Given the description of an element on the screen output the (x, y) to click on. 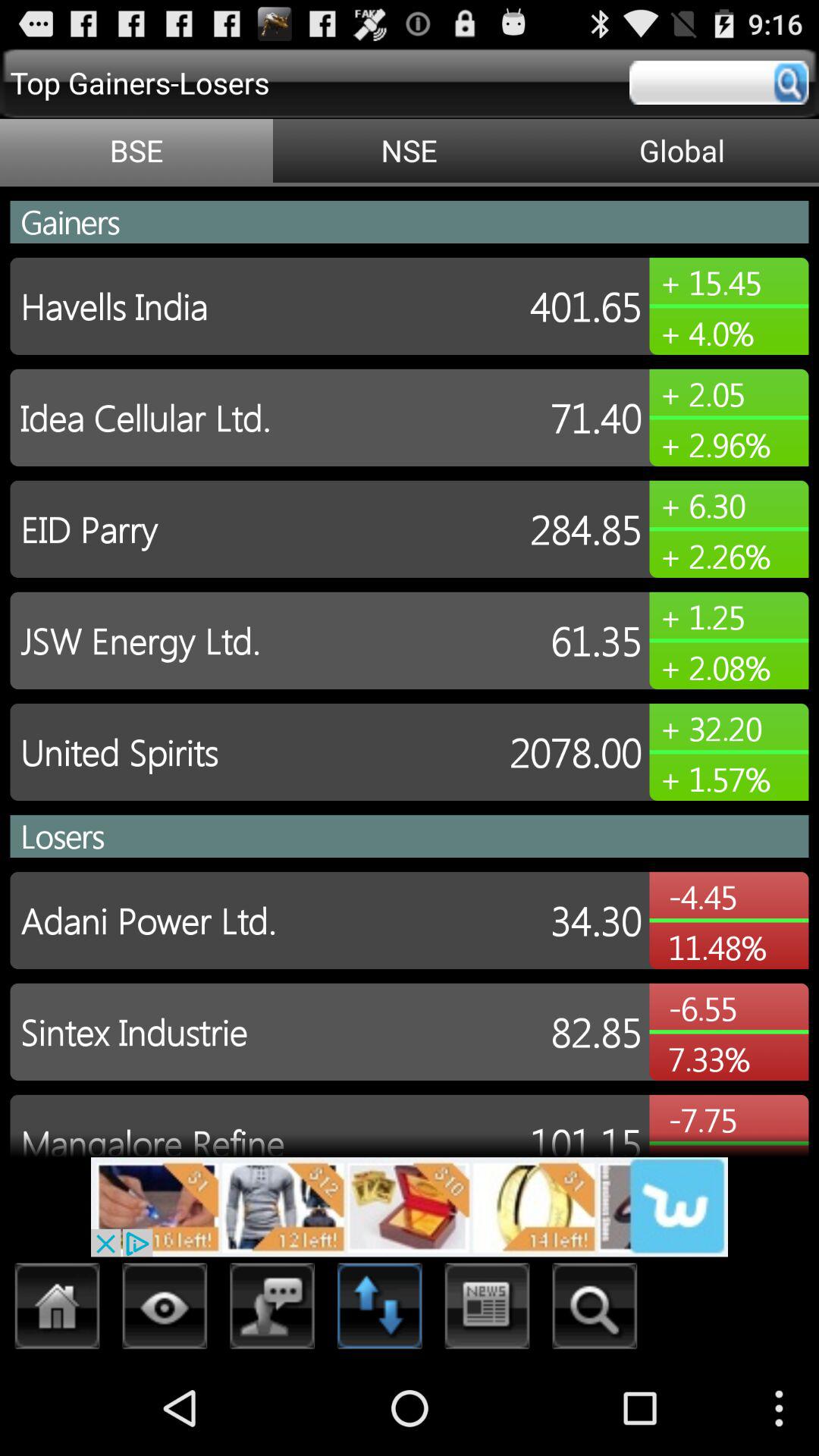
search button option (594, 1310)
